Given the description of an element on the screen output the (x, y) to click on. 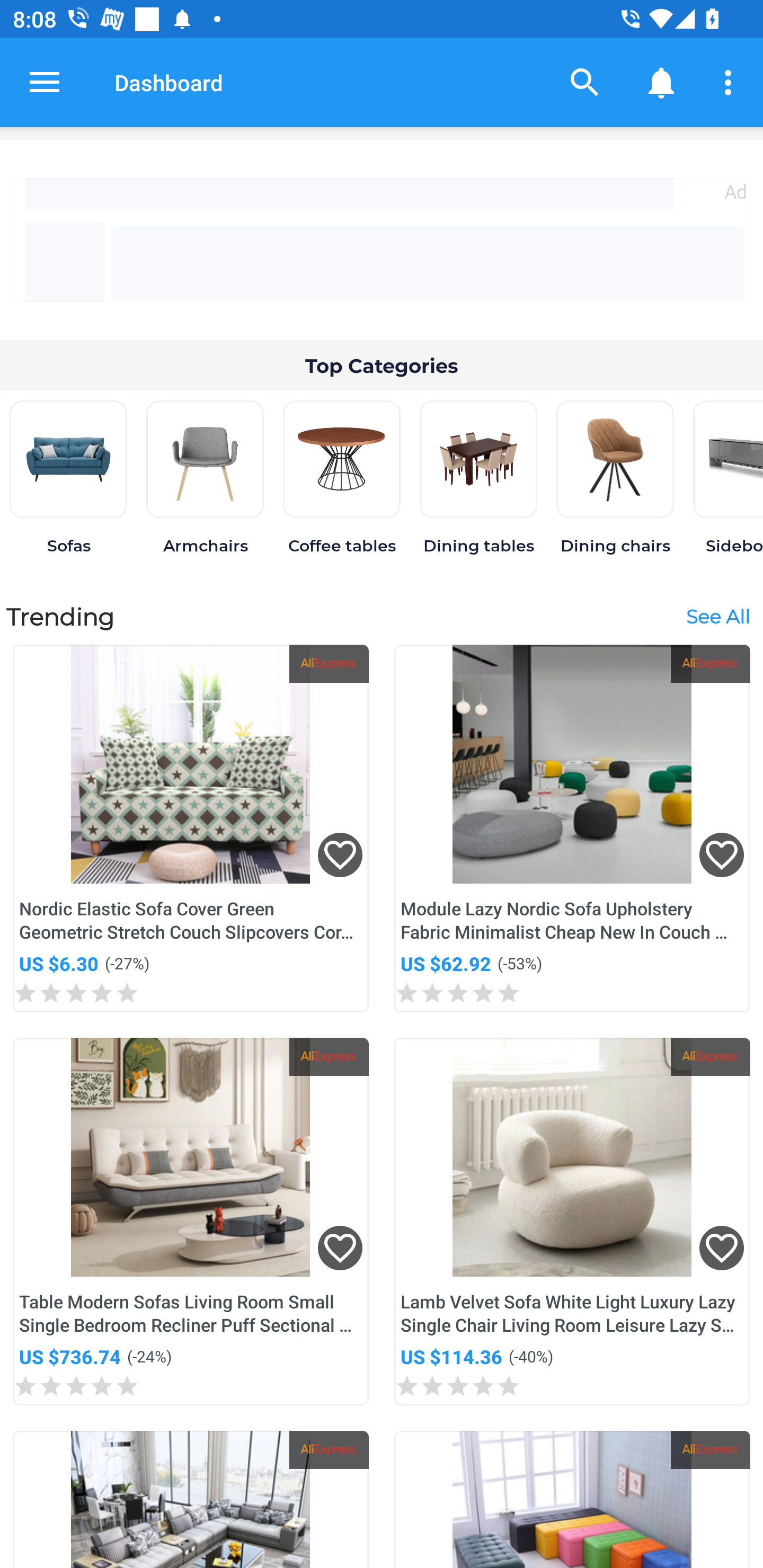
Open navigation drawer (44, 82)
Search (585, 81)
More options (731, 81)
See All (717, 615)
